Given the description of an element on the screen output the (x, y) to click on. 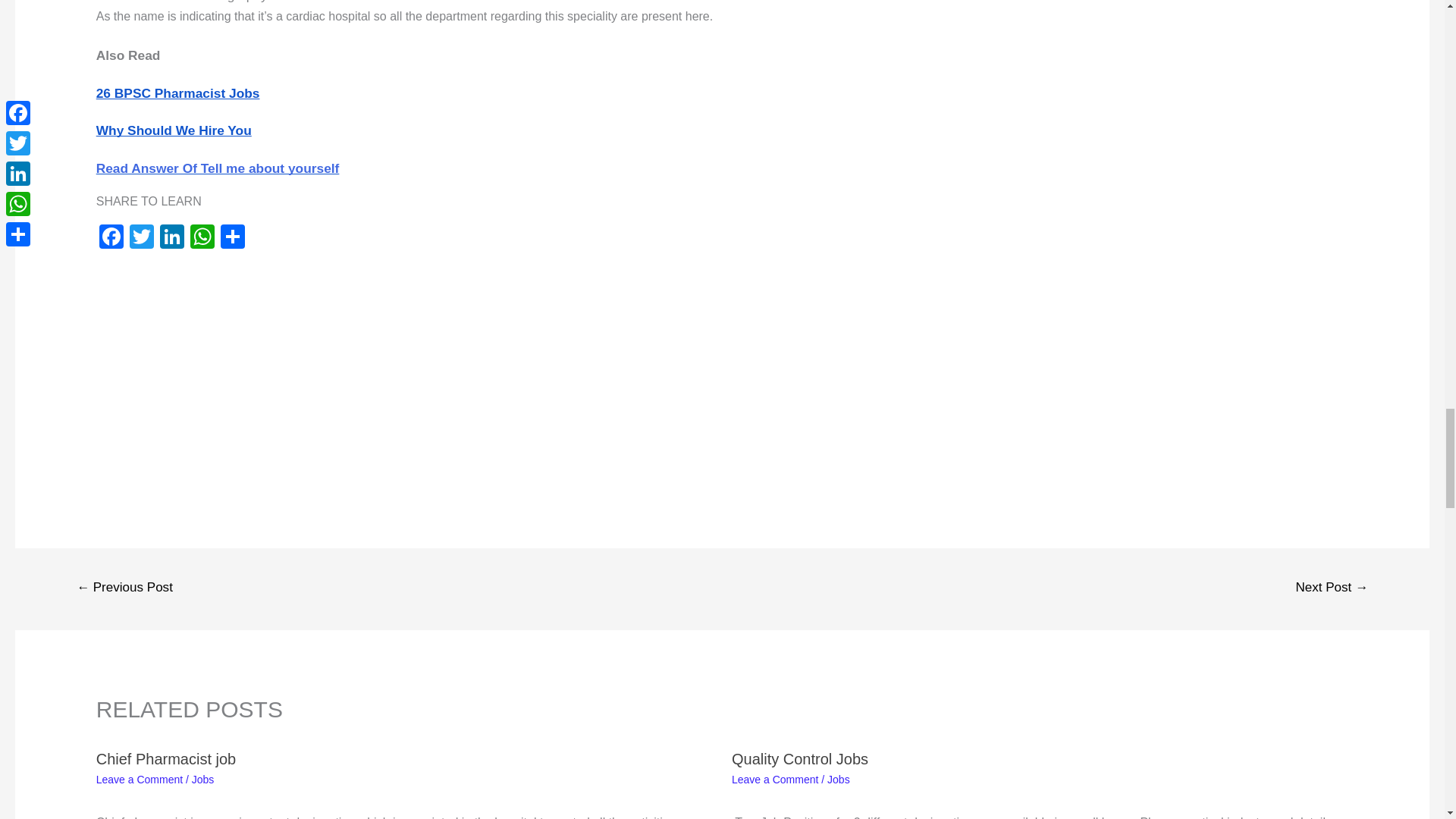
Why Should We Hire You (173, 130)
Facebook (111, 238)
LinkedIn (172, 238)
Leave a Comment (139, 779)
WhatsApp (201, 238)
WhatsApp (201, 238)
Chief Pharmacist job (165, 759)
26 BPSC Pharmacist Jobs (178, 92)
Twitter (141, 238)
Facebook (111, 238)
